Given the description of an element on the screen output the (x, y) to click on. 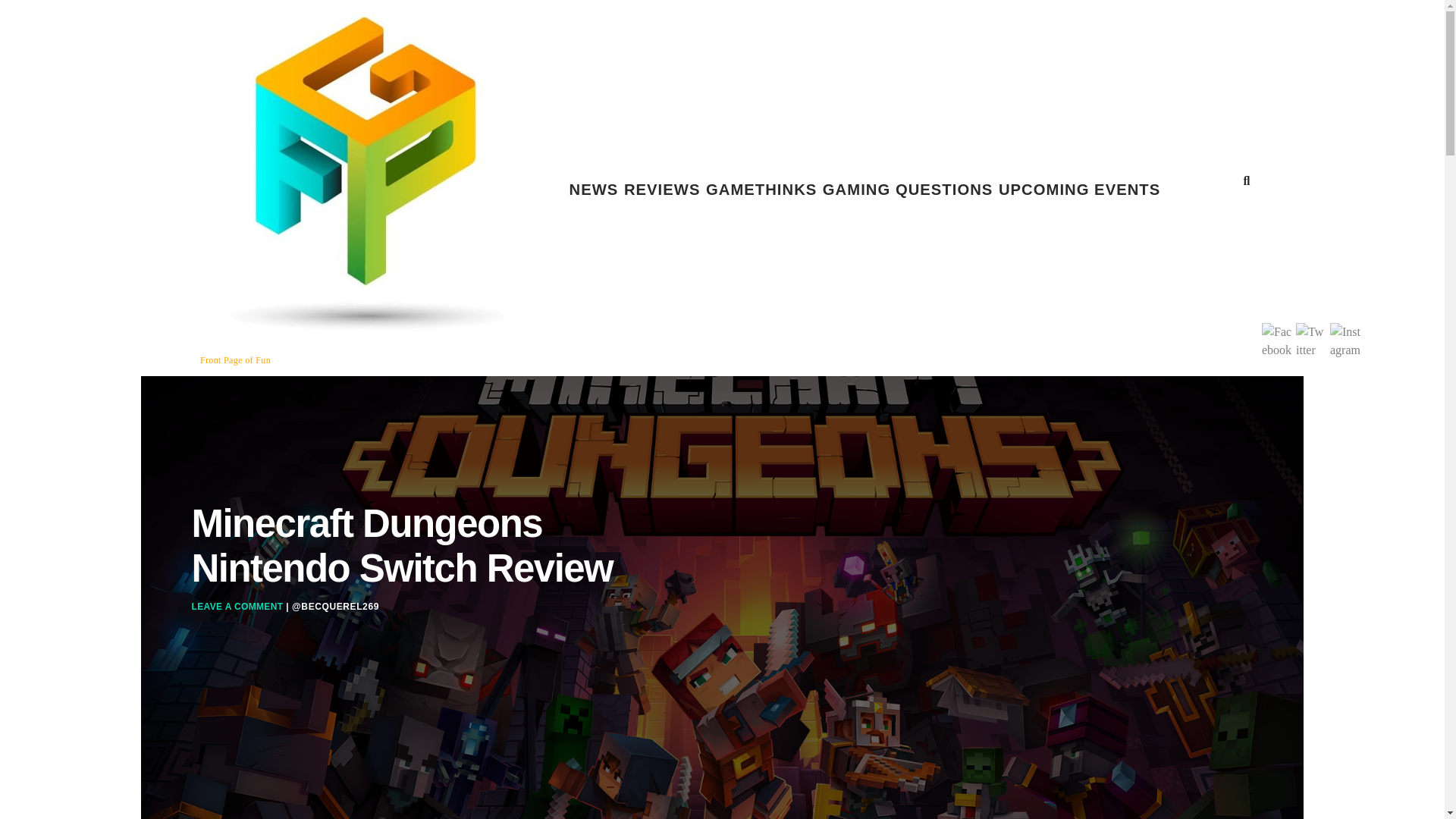
LEAVE A COMMENT (236, 606)
Front Page Gaming (361, 346)
REVIEWS (662, 189)
NEWS (593, 189)
UPCOMING EVENTS (1079, 189)
GAMING QUESTIONS (907, 189)
GAMETHINKS (761, 189)
